Given the description of an element on the screen output the (x, y) to click on. 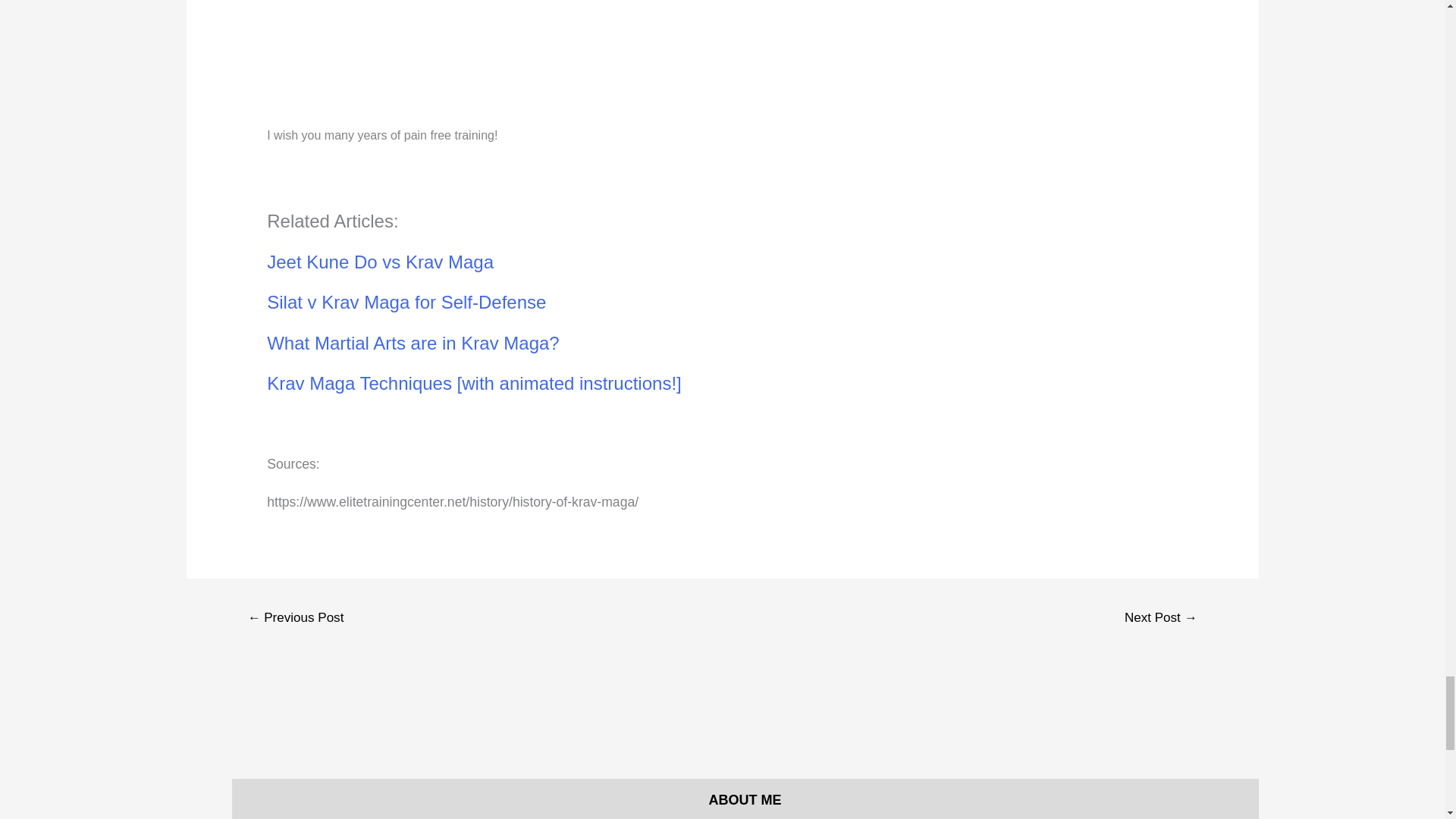
Silat v Krav Maga for Self-Defense (406, 301)
Jeet Kune Do vs Krav Maga (379, 261)
What Martial Arts are in Krav Maga? (412, 342)
